Given the description of an element on the screen output the (x, y) to click on. 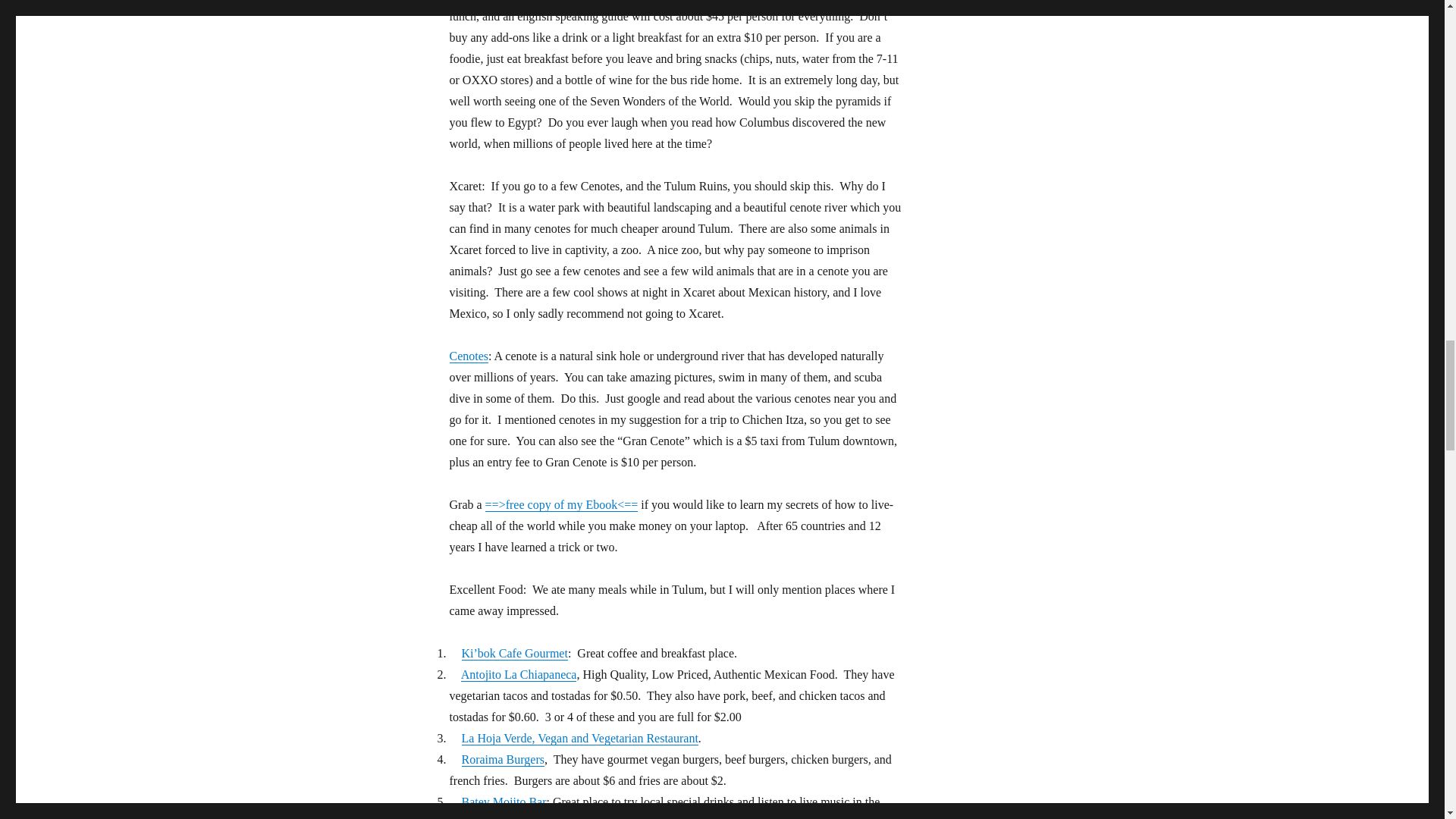
Cenotes (467, 355)
Roraima Burgers (502, 758)
Batey Mojito Bar (503, 801)
Antojito La Chiapaneca (518, 674)
La Hoja Verde, Vegan and Vegetarian Restaurant (579, 738)
